Given the description of an element on the screen output the (x, y) to click on. 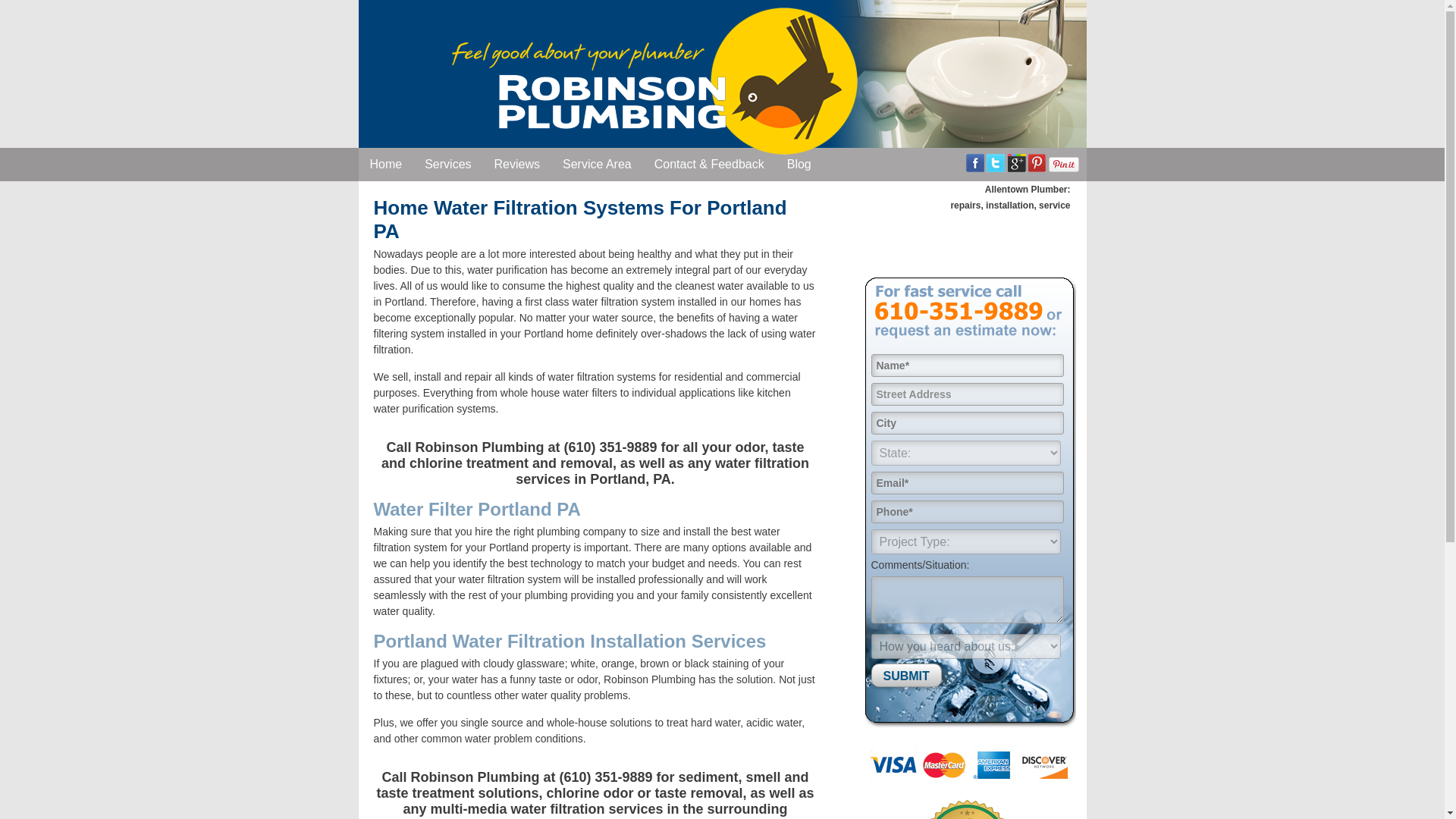
twitter (995, 162)
Service Area (597, 164)
Home (385, 164)
SUBMIT (905, 675)
Services (447, 164)
Street Address (966, 394)
Reviews (517, 164)
facebook (975, 162)
pin-it (1063, 164)
SUBMIT (905, 675)
pinterest (1036, 162)
Blog (799, 164)
